Given the description of an element on the screen output the (x, y) to click on. 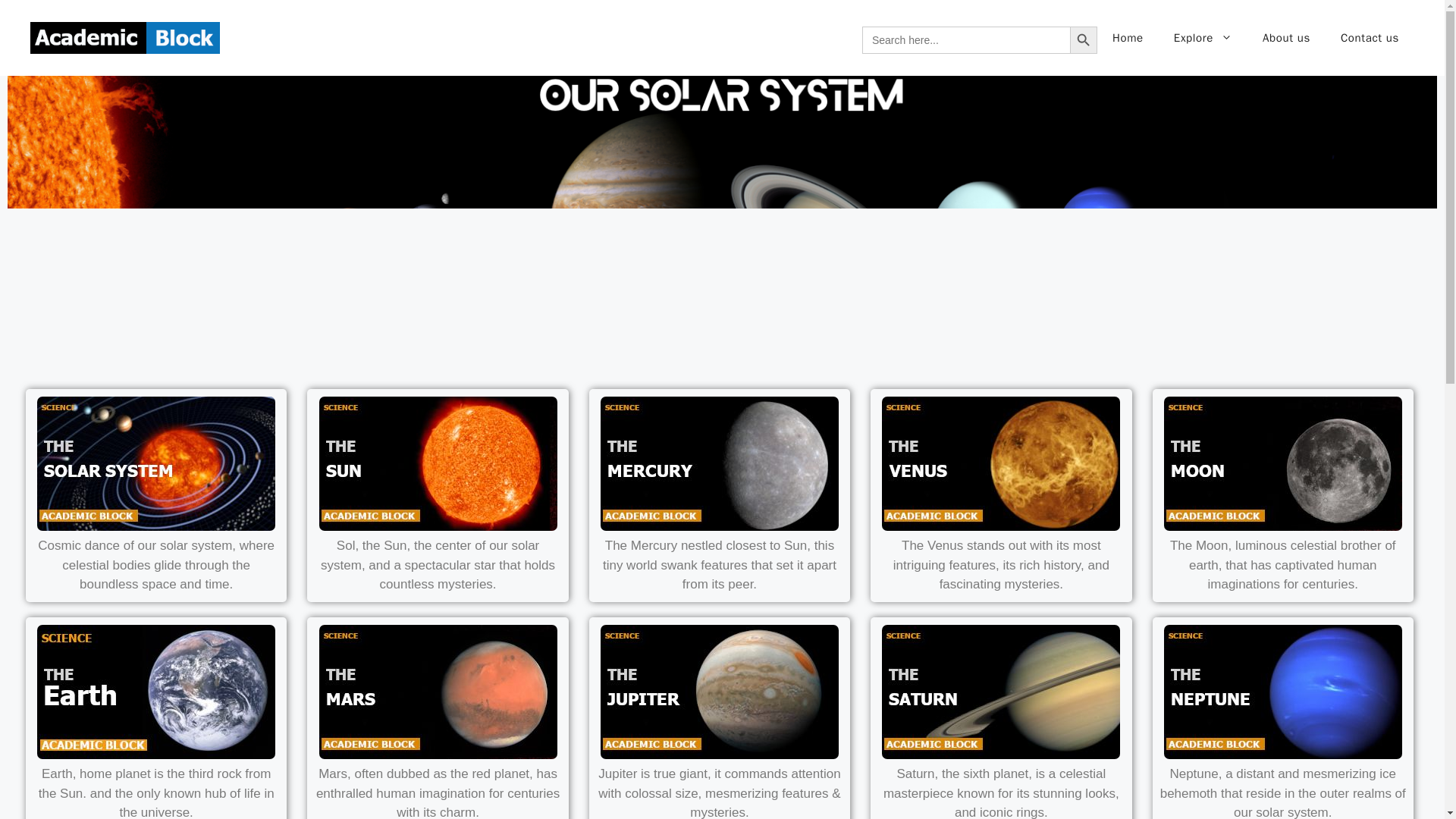
Explore (1202, 37)
Home (1127, 37)
Search Button (1083, 40)
About us (1285, 37)
Contact us (1368, 37)
